Given the description of an element on the screen output the (x, y) to click on. 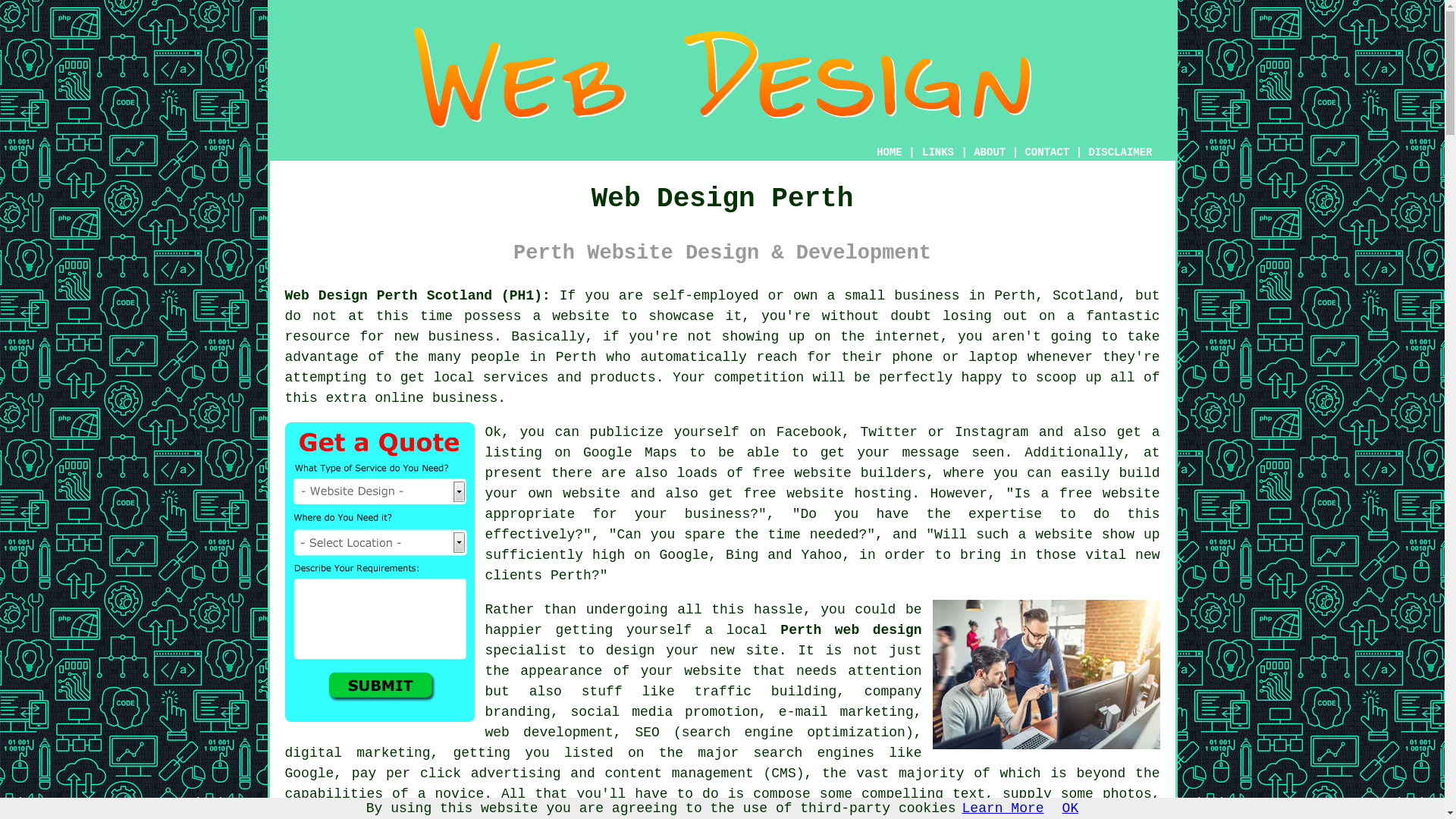
new site (743, 650)
free website builders (839, 473)
have a website (738, 812)
Google Maps (630, 452)
LINKS (938, 151)
Web Design Perth (721, 77)
website (580, 315)
Perth web design (850, 630)
Web Design Perth Scotland (1046, 674)
HOME (889, 152)
